Given the description of an element on the screen output the (x, y) to click on. 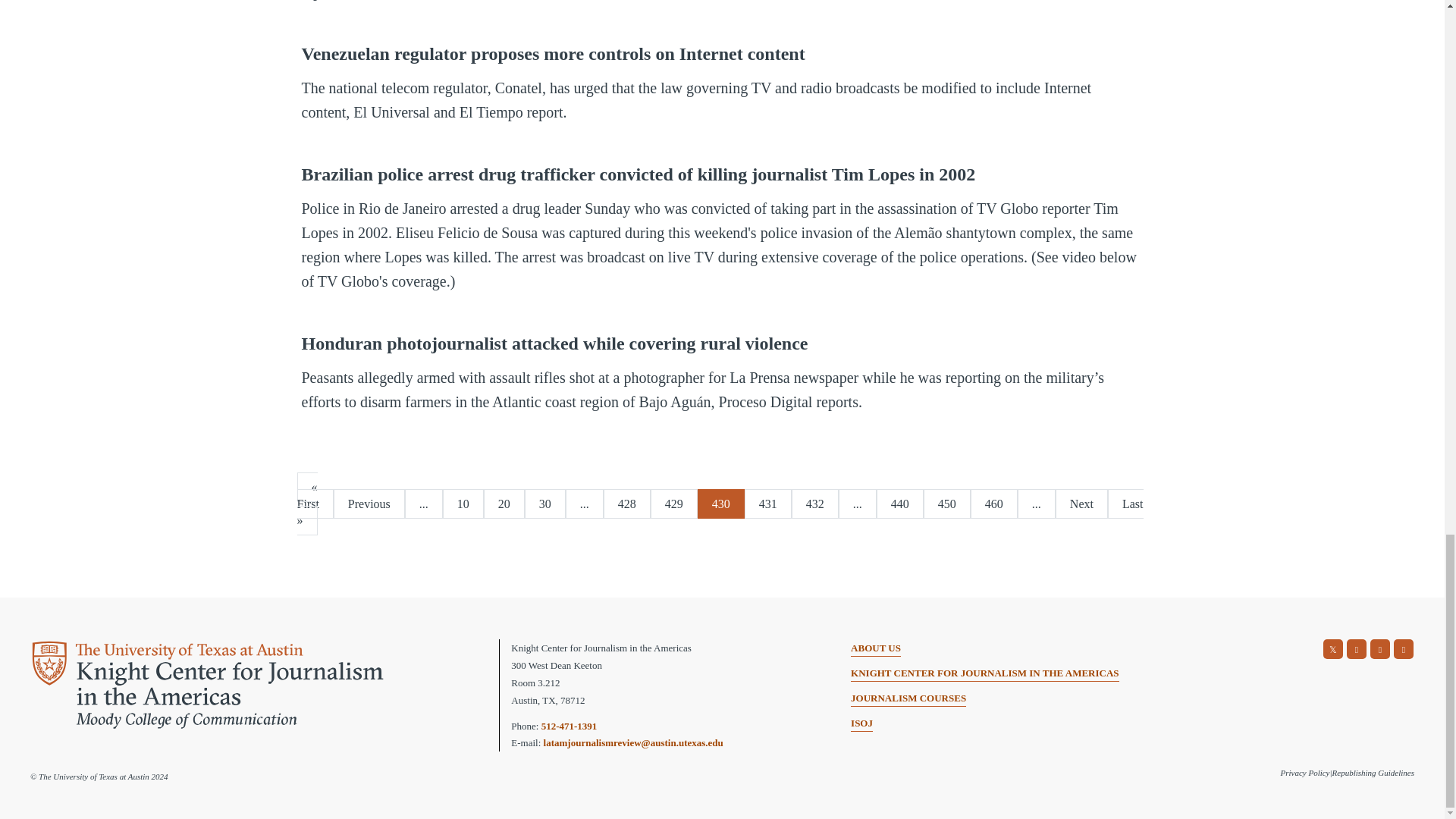
twitter (1332, 649)
450 (947, 503)
Page 450 (947, 503)
Page 20 (503, 503)
Page 30 (545, 503)
Page 460 (994, 503)
facebook (1356, 649)
431 (768, 503)
Page 432 (815, 503)
460 (994, 503)
30 (545, 503)
428 (627, 503)
Page 429 (673, 503)
20 (503, 503)
